Given the description of an element on the screen output the (x, y) to click on. 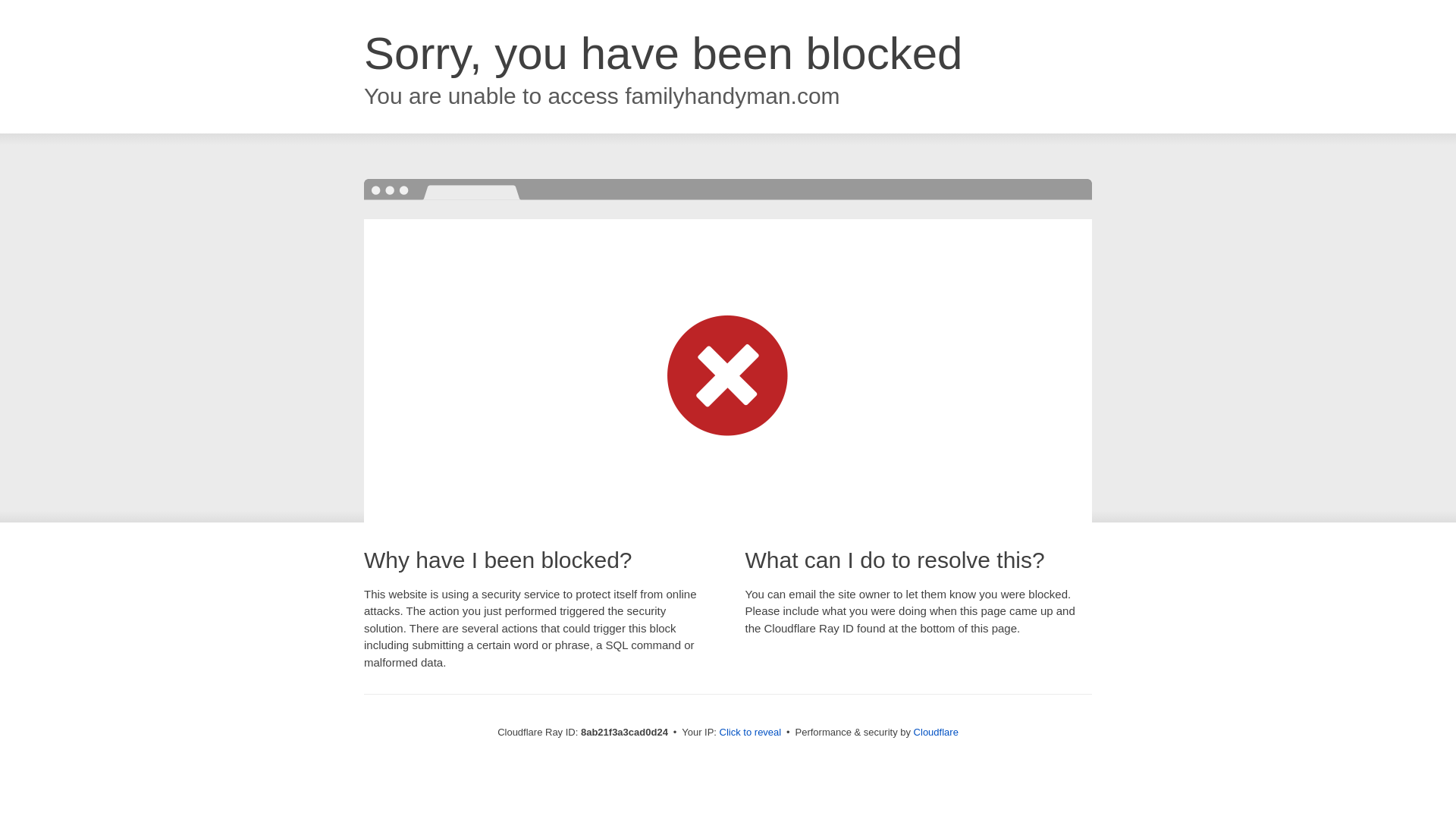
Click to reveal (750, 732)
Cloudflare (936, 731)
